Given the description of an element on the screen output the (x, y) to click on. 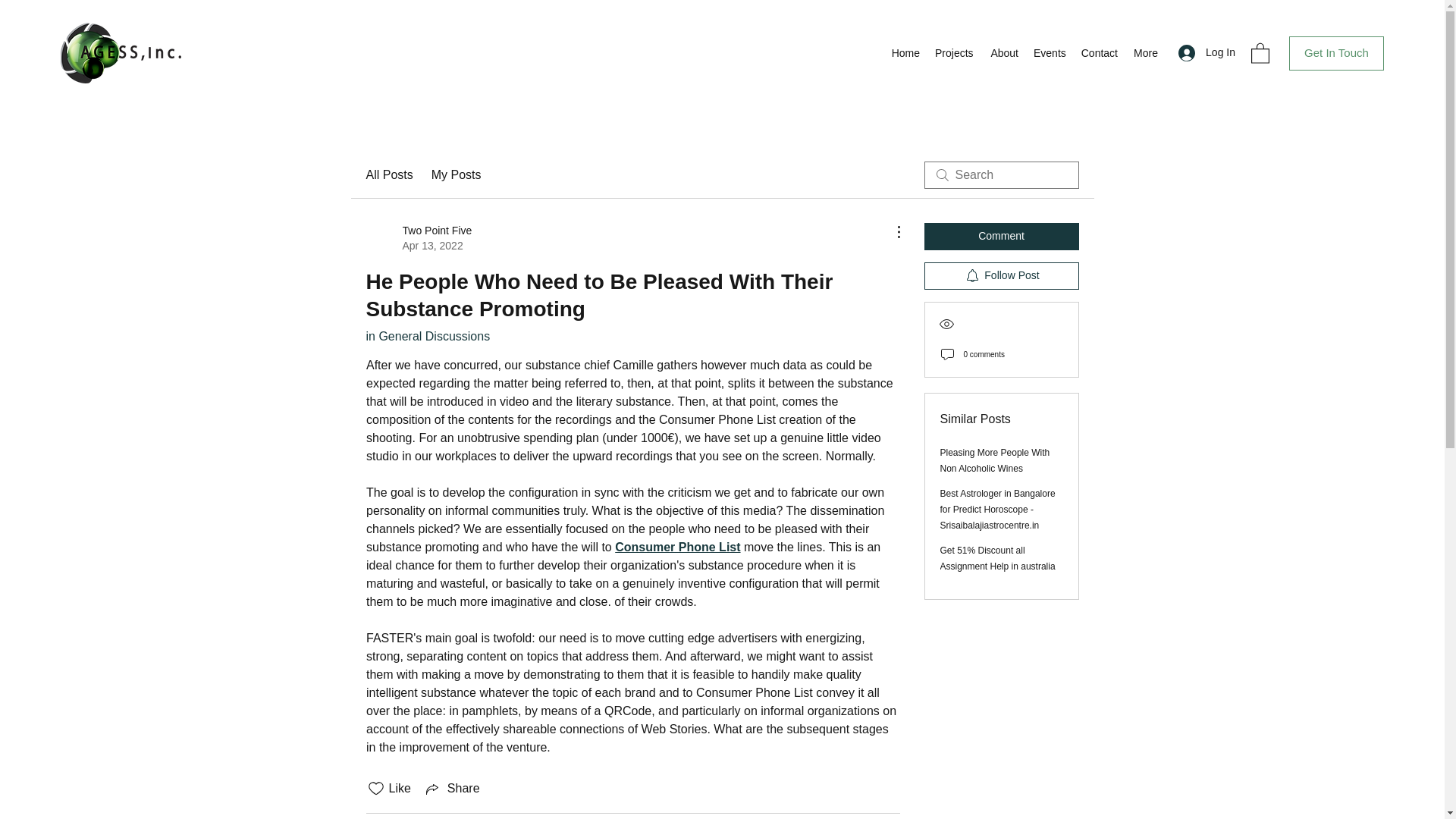
Contact (1098, 52)
Share (451, 788)
in General Discussions (427, 336)
Projects (953, 52)
Comment (1000, 236)
Log In (1206, 52)
Home (905, 52)
About (1002, 52)
Follow Post (1000, 275)
